Given the description of an element on the screen output the (x, y) to click on. 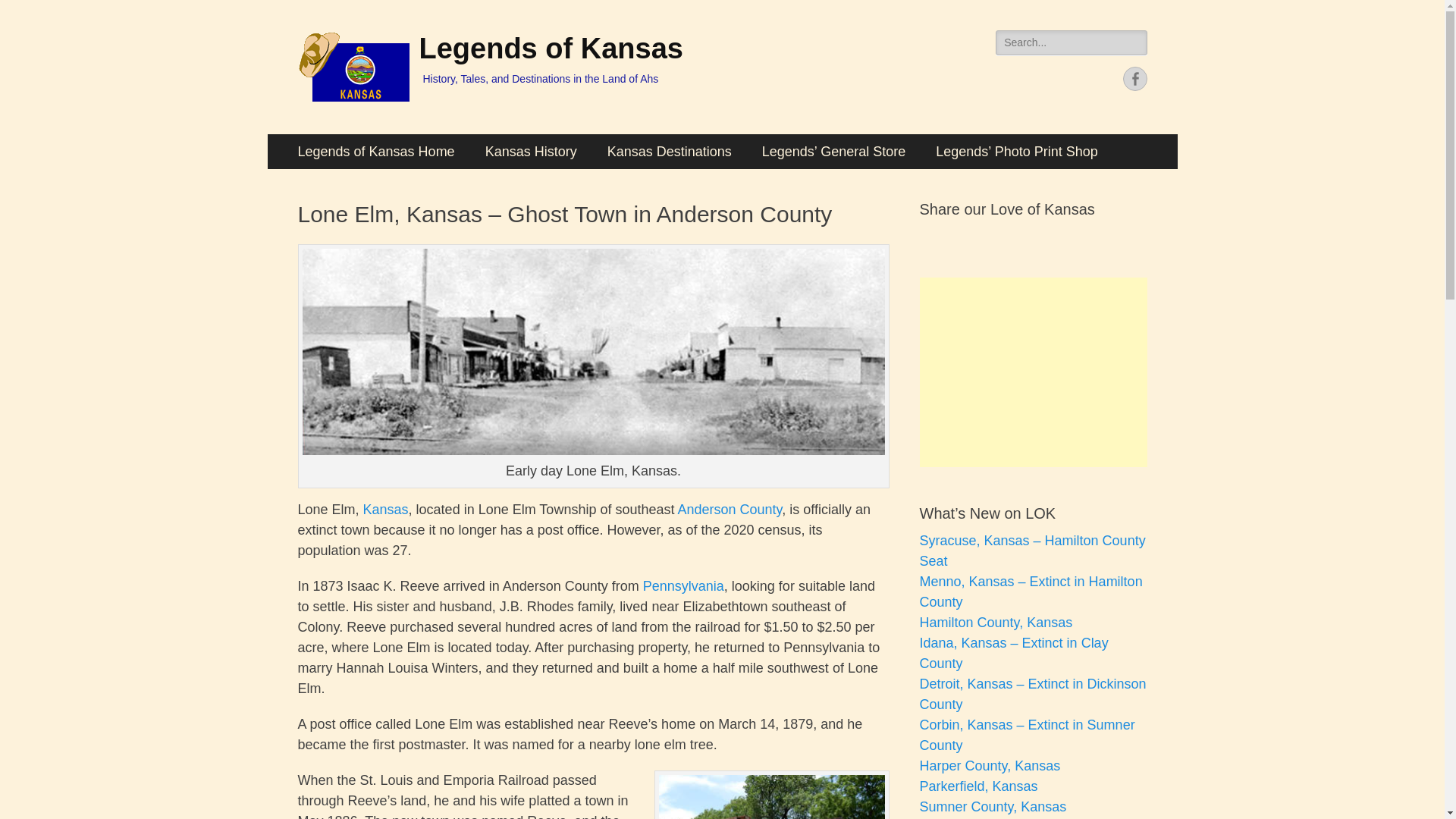
Facebook (1134, 78)
Search (24, 9)
Kansas Destinations (669, 151)
Kansas History (531, 151)
Legends of Kansas Home (375, 151)
Facebook (1134, 78)
Search for: (1071, 42)
Advertisement (1032, 371)
Early day Lone Elm, Kansas. (592, 351)
